Given the description of an element on the screen output the (x, y) to click on. 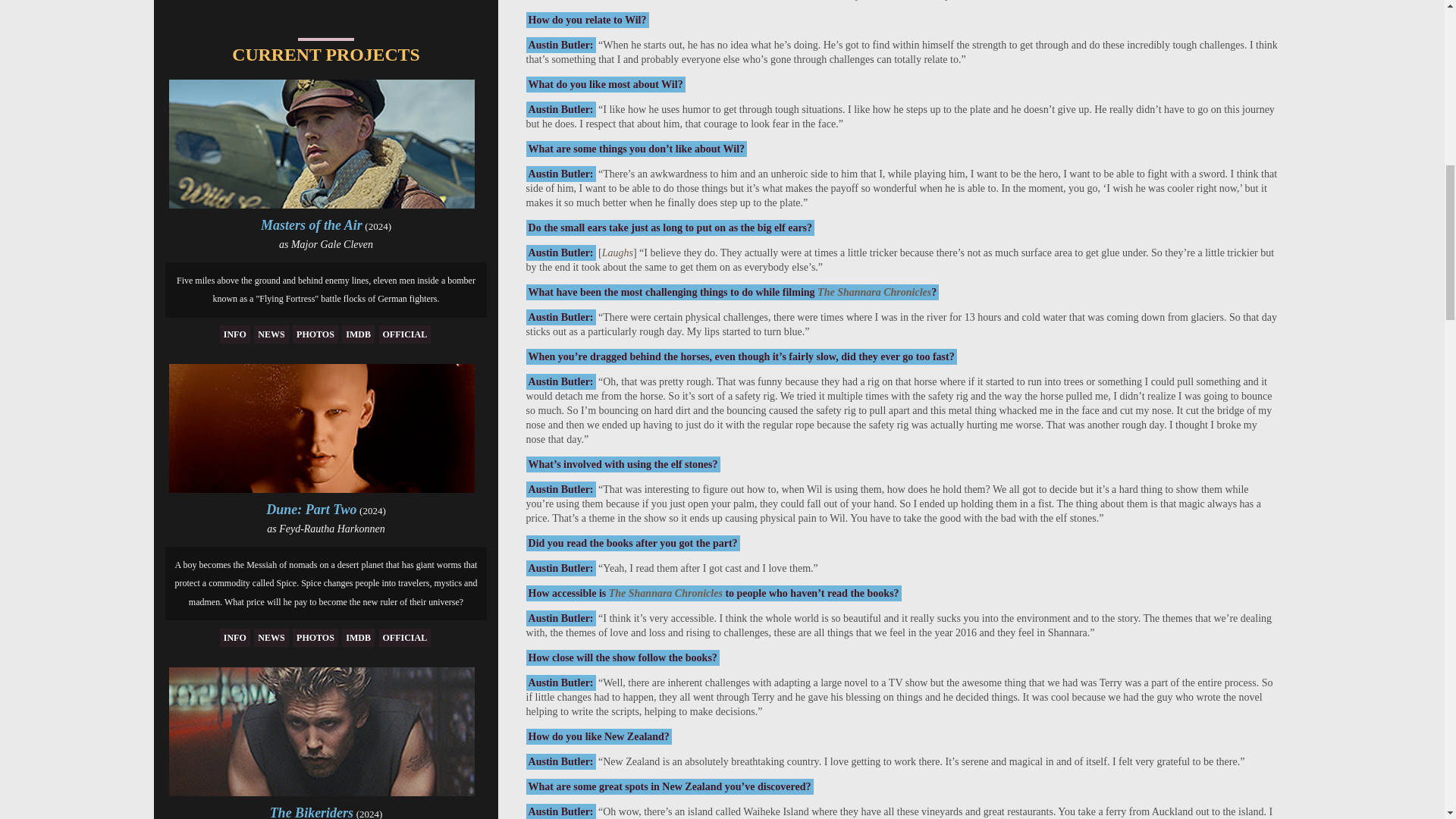
OFFICIAL (404, 637)
NEWS (270, 334)
PHOTOS (314, 334)
IMDB (358, 637)
PHOTOS (314, 637)
OFFICIAL (404, 334)
NEWS (270, 637)
IMDB (358, 334)
INFO (234, 334)
INFO (234, 637)
